Given the description of an element on the screen output the (x, y) to click on. 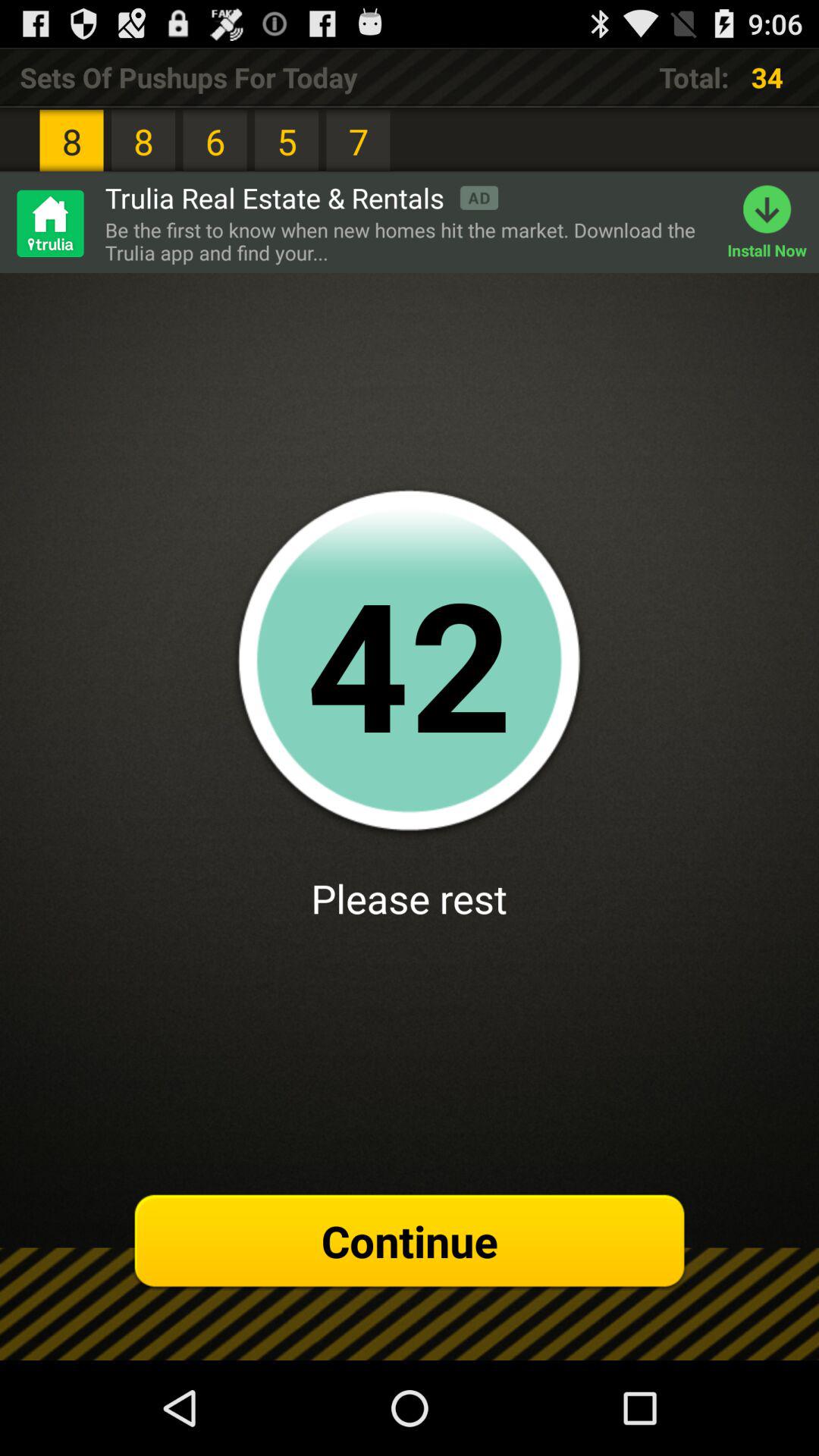
turn on icon next to trulia real estate (49, 222)
